Given the description of an element on the screen output the (x, y) to click on. 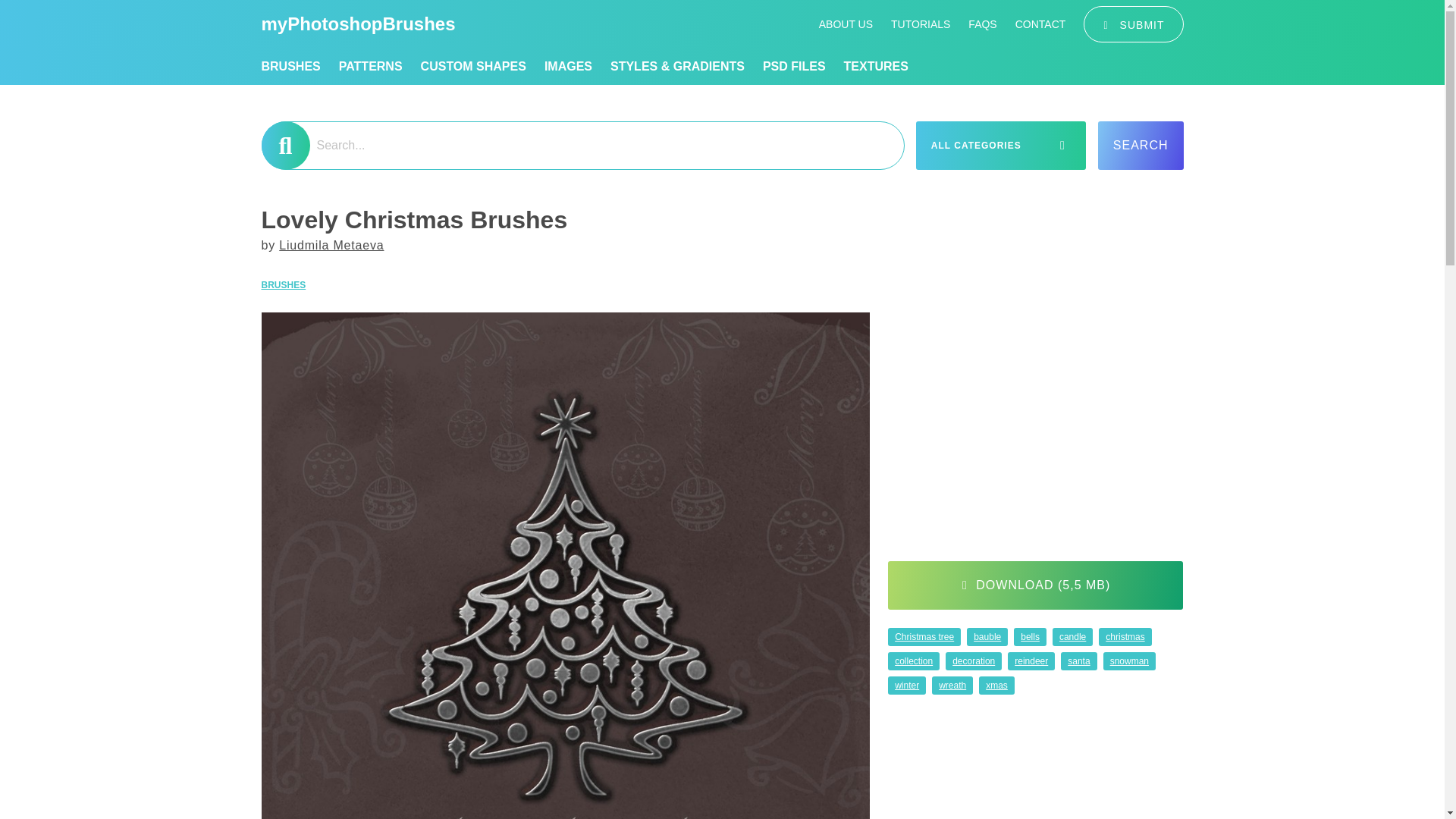
TEXTURES (876, 66)
Christmas tree (924, 637)
PSD FILES (793, 66)
BRUSHES (286, 285)
CONTACT (1039, 24)
download brushes (1035, 585)
bells (1029, 637)
reindeer (1030, 660)
candle (1072, 637)
PATTERNS (371, 66)
collection (913, 660)
ABOUT US (845, 24)
TUTORIALS (920, 24)
FAQS (981, 24)
christmas (1125, 637)
